Given the description of an element on the screen output the (x, y) to click on. 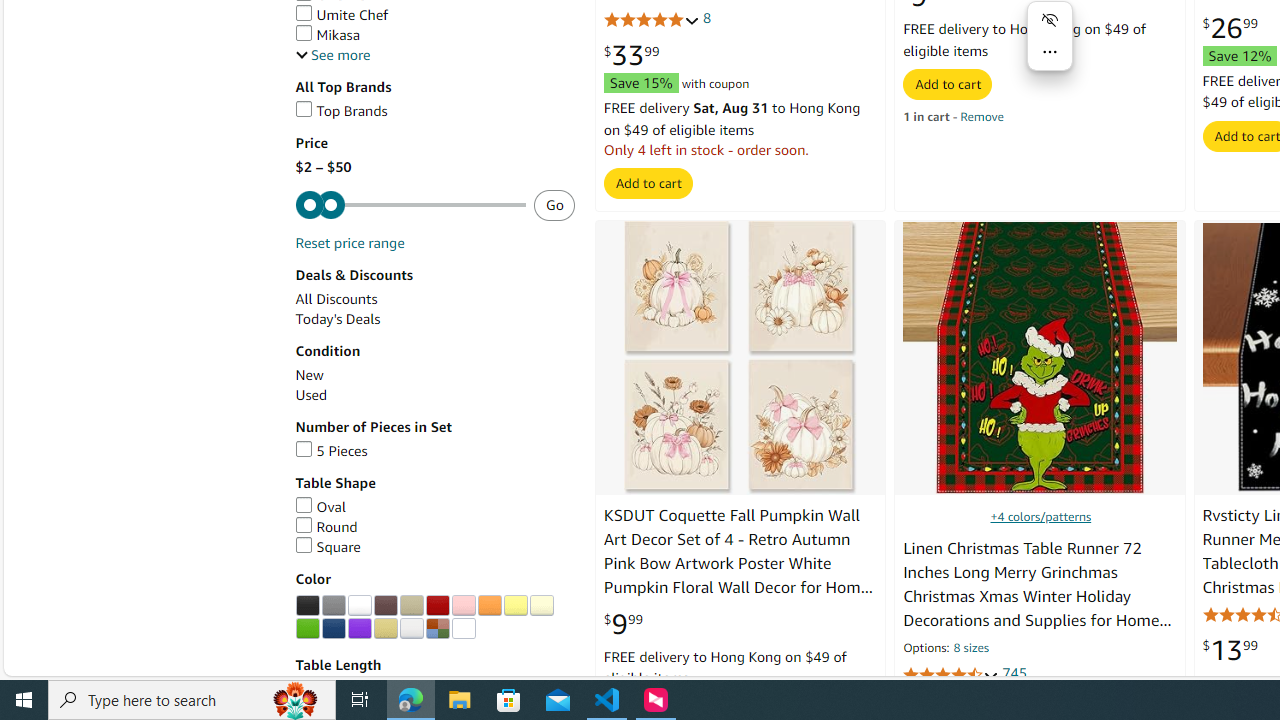
New (308, 375)
Umite Chef (341, 15)
AutomationID: p_n_feature_twenty_browse-bin/3254102011 (411, 605)
$9.99 (622, 624)
Black (307, 605)
AutomationID: p_n_feature_twenty_browse-bin/3254104011 (463, 605)
AutomationID: p_n_feature_twenty_browse-bin/3254108011 (307, 628)
AutomationID: p_n_feature_twenty_browse-bin/3254099011 (333, 605)
Mini menu on text selection (1049, 35)
Multi (437, 628)
